Given the description of an element on the screen output the (x, y) to click on. 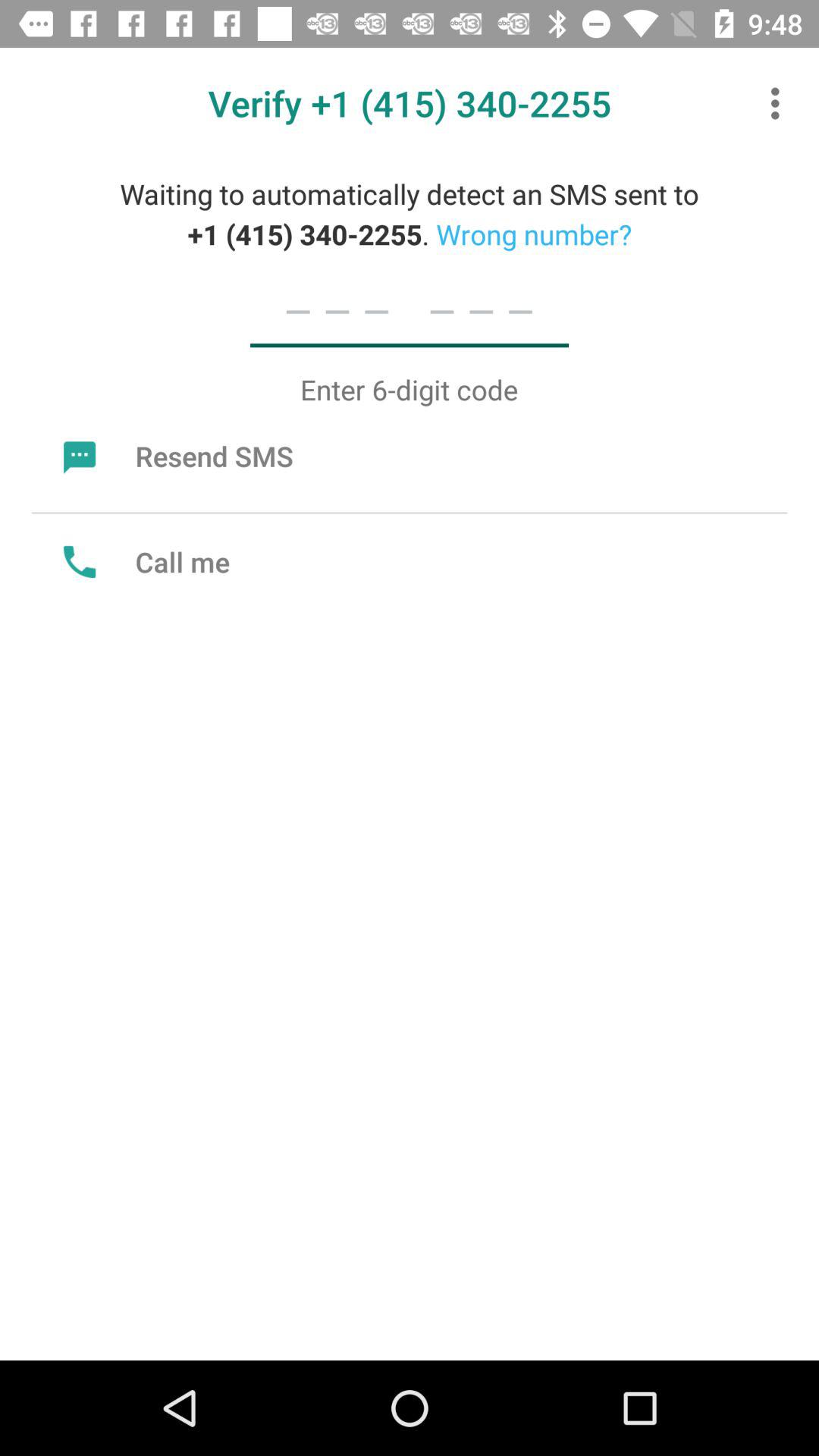
choose the call me icon (142, 561)
